Given the description of an element on the screen output the (x, y) to click on. 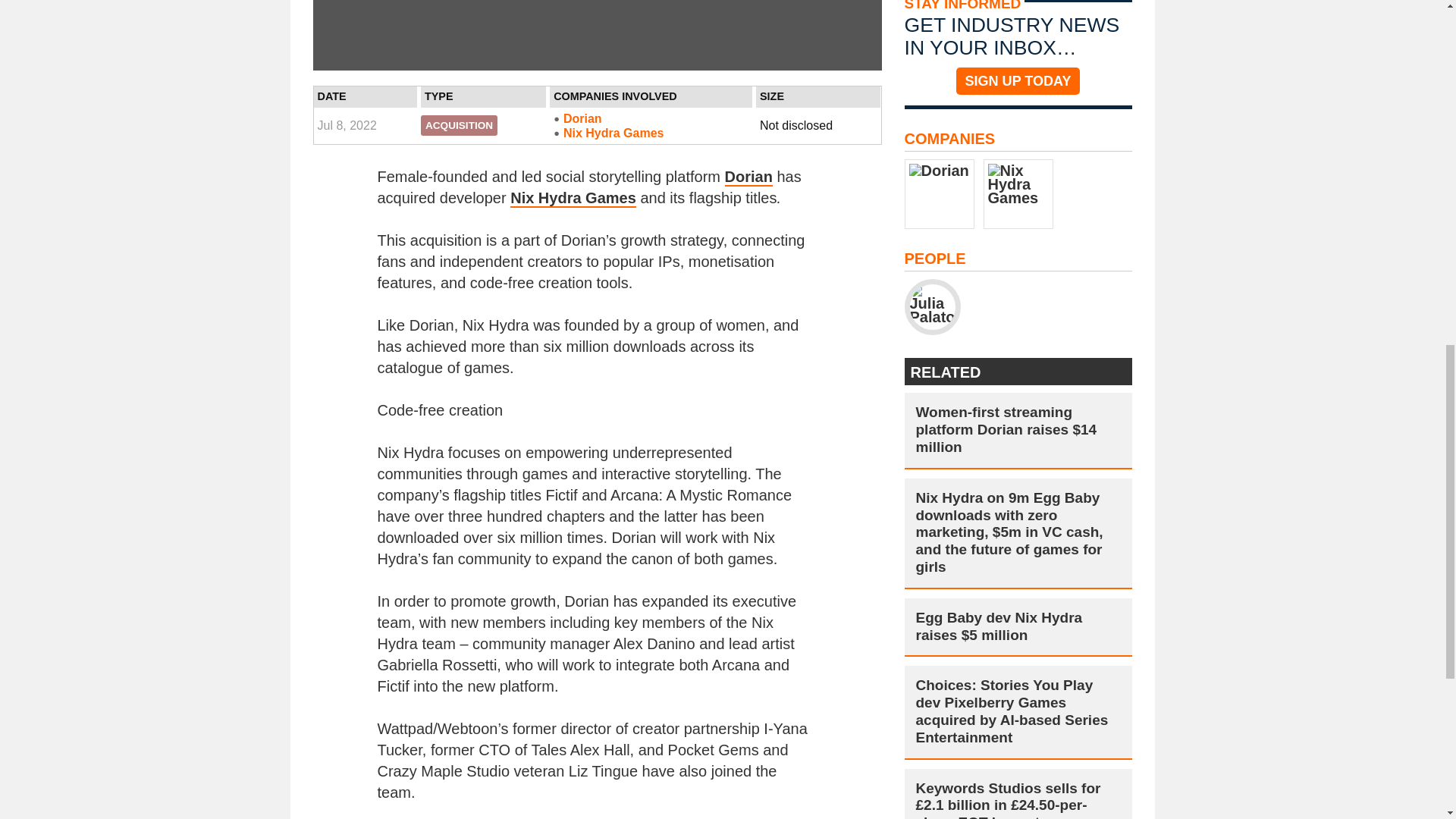
Dorian (650, 118)
Dorian (749, 177)
Nix Hydra Games (573, 198)
Nix Hydra Games (650, 133)
